Given the description of an element on the screen output the (x, y) to click on. 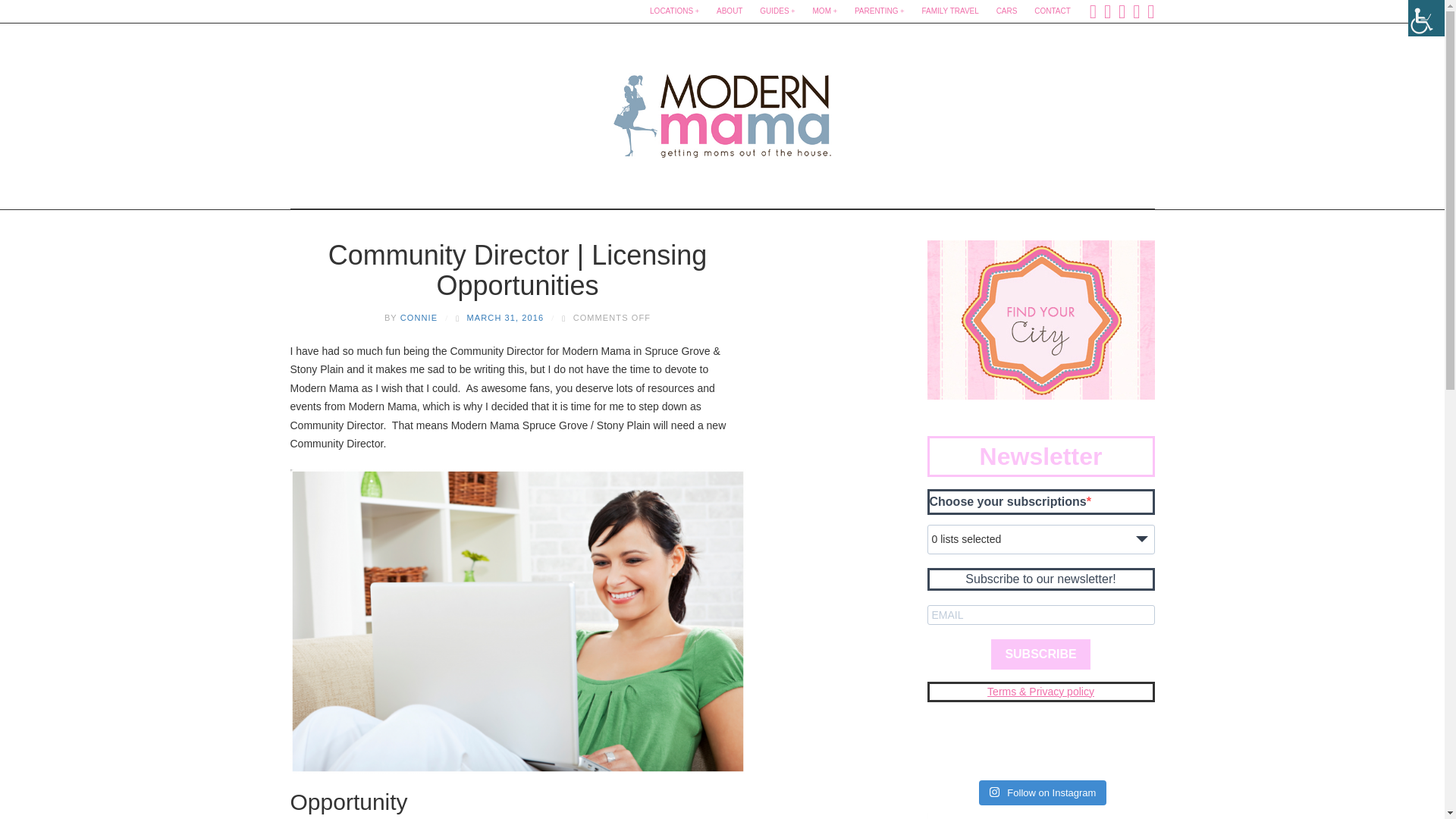
View all posts by connie (419, 317)
PARENTING (879, 11)
MOM (825, 11)
GUIDES (777, 11)
LOCATIONS (674, 11)
ABOUT (729, 11)
FAMILY TRAVEL (949, 11)
CONTACT (1052, 11)
CARS (1006, 11)
CONNIE (419, 317)
Modern Mama (722, 111)
MARCH 31, 2016 (505, 317)
2:24 pm (505, 317)
